Given the description of an element on the screen output the (x, y) to click on. 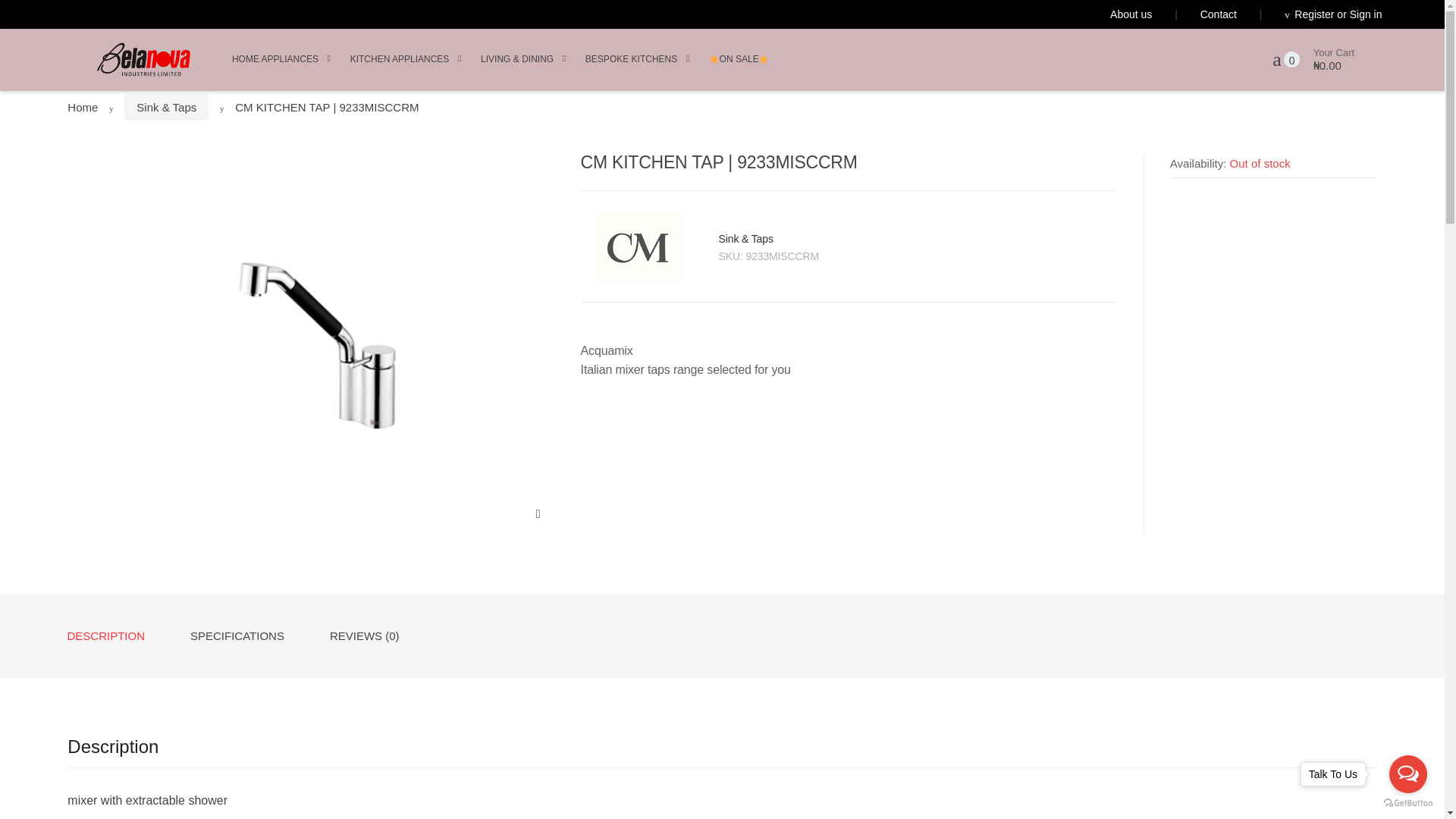
Kitchen Appliances (399, 59)
About us (1130, 14)
Home Appliances (274, 59)
BESPOKE KITCHENS (631, 59)
Register or Sign in (1308, 14)
Contact (1193, 14)
Register or Sign in (1308, 14)
Contact (1193, 14)
ON SALE (738, 59)
About us (1130, 14)
HOME APPLIANCES (274, 59)
KITCHEN APPLIANCES (399, 59)
